Given the description of an element on the screen output the (x, y) to click on. 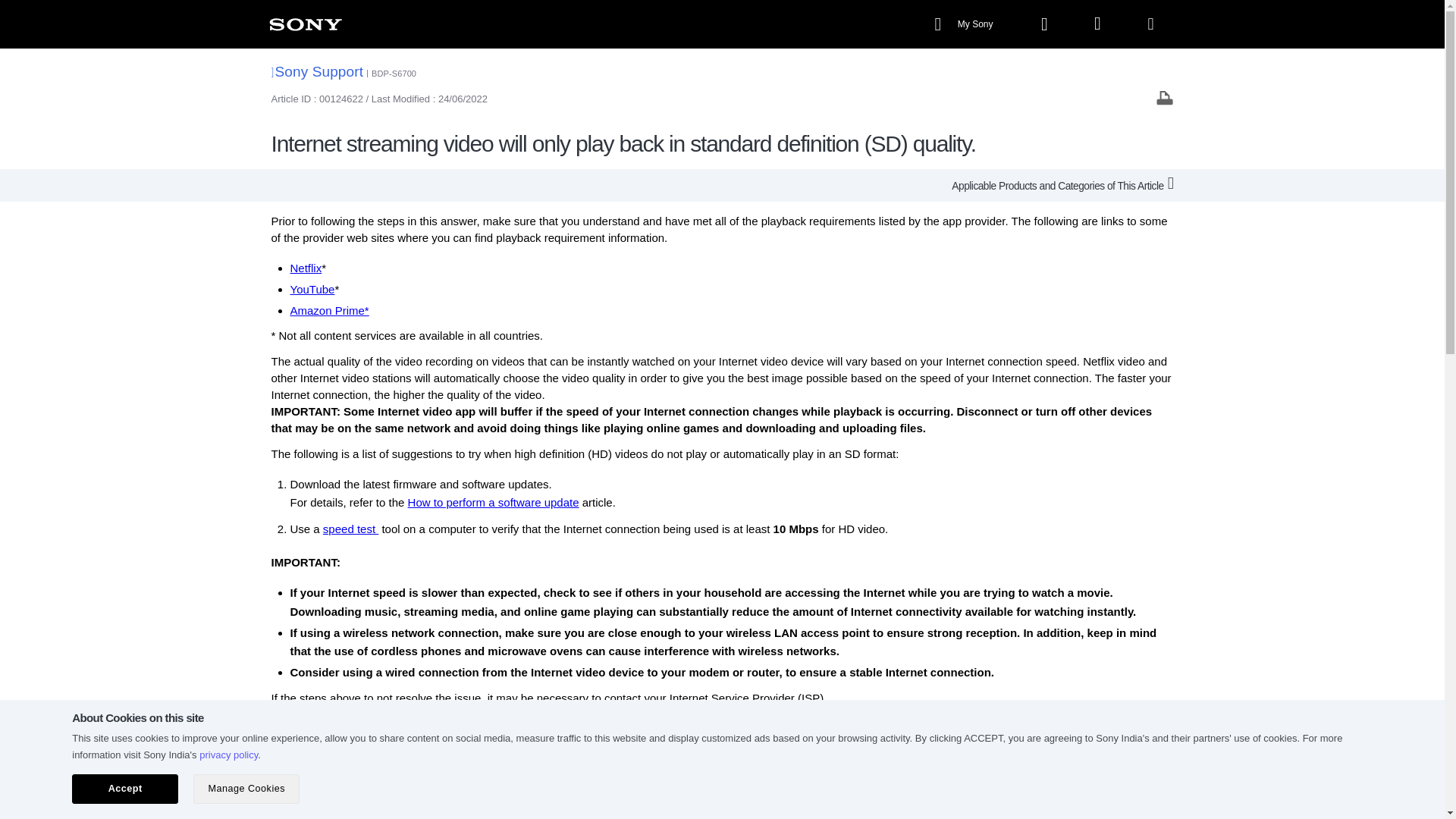
Print (1164, 97)
Contact Us (710, 799)
My Sony (964, 24)
